Given the description of an element on the screen output the (x, y) to click on. 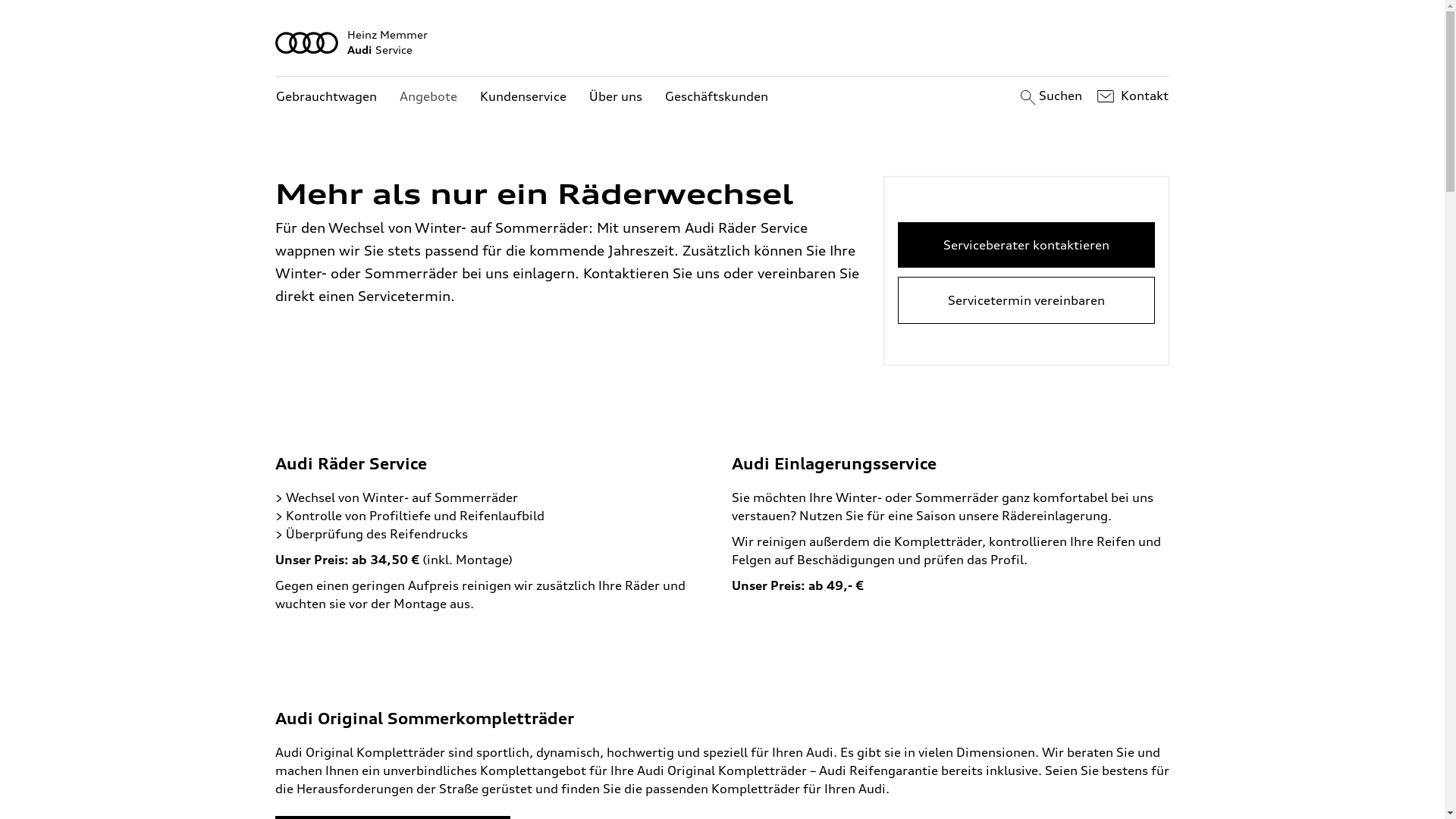
Servicetermin vereinbaren Element type: text (1025, 299)
Kontakt Element type: text (1130, 96)
Suchen Element type: text (1049, 96)
Angebote Element type: text (428, 96)
Kundenservice Element type: text (523, 96)
Serviceberater kontaktieren Element type: text (1025, 244)
Gebrauchtwagen Element type: text (326, 96)
Heinz Memmer
AudiService Element type: text (722, 42)
